Given the description of an element on the screen output the (x, y) to click on. 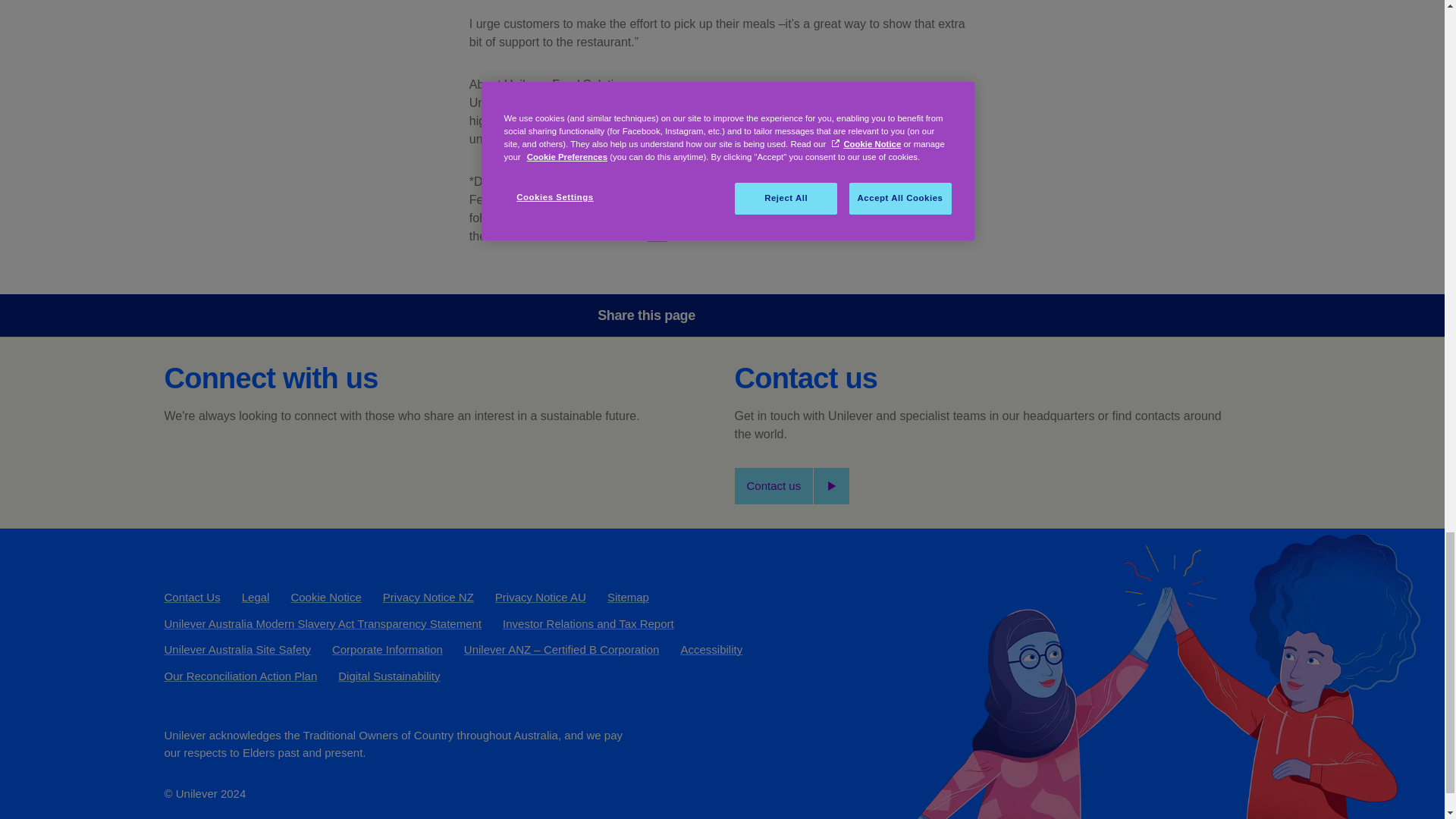
Share this page on Linked In (825, 315)
Connect with us on LinkedIn (263, 466)
Share this page on X (782, 315)
Share this page on Facebook (740, 315)
Connect with us on Instagram (303, 466)
Share this page on E-mail (868, 315)
Connect with us on X (222, 466)
see (656, 236)
Connect with us on Facebook (181, 466)
